Given the description of an element on the screen output the (x, y) to click on. 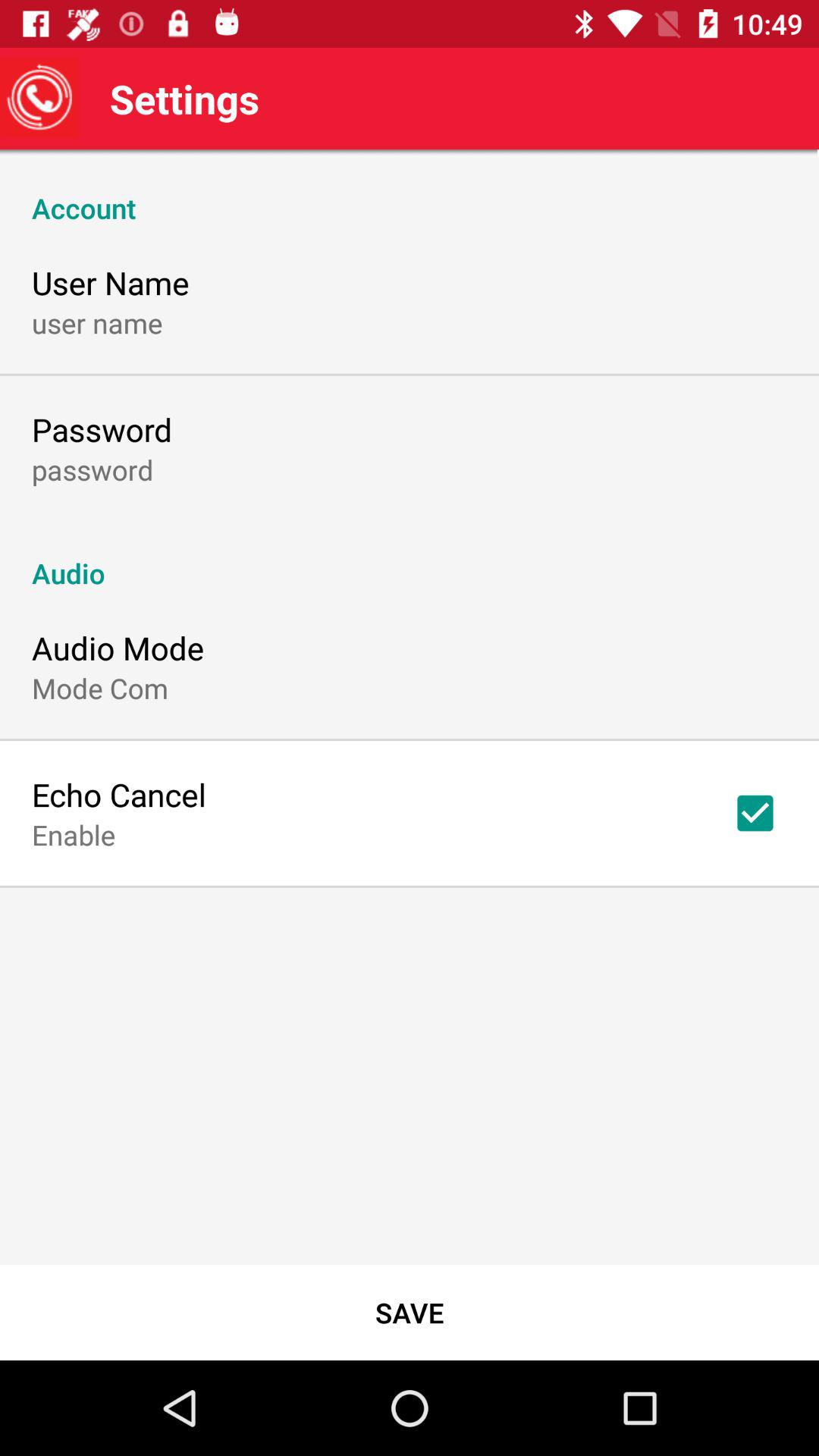
jump until the echo cancel item (118, 794)
